Given the description of an element on the screen output the (x, y) to click on. 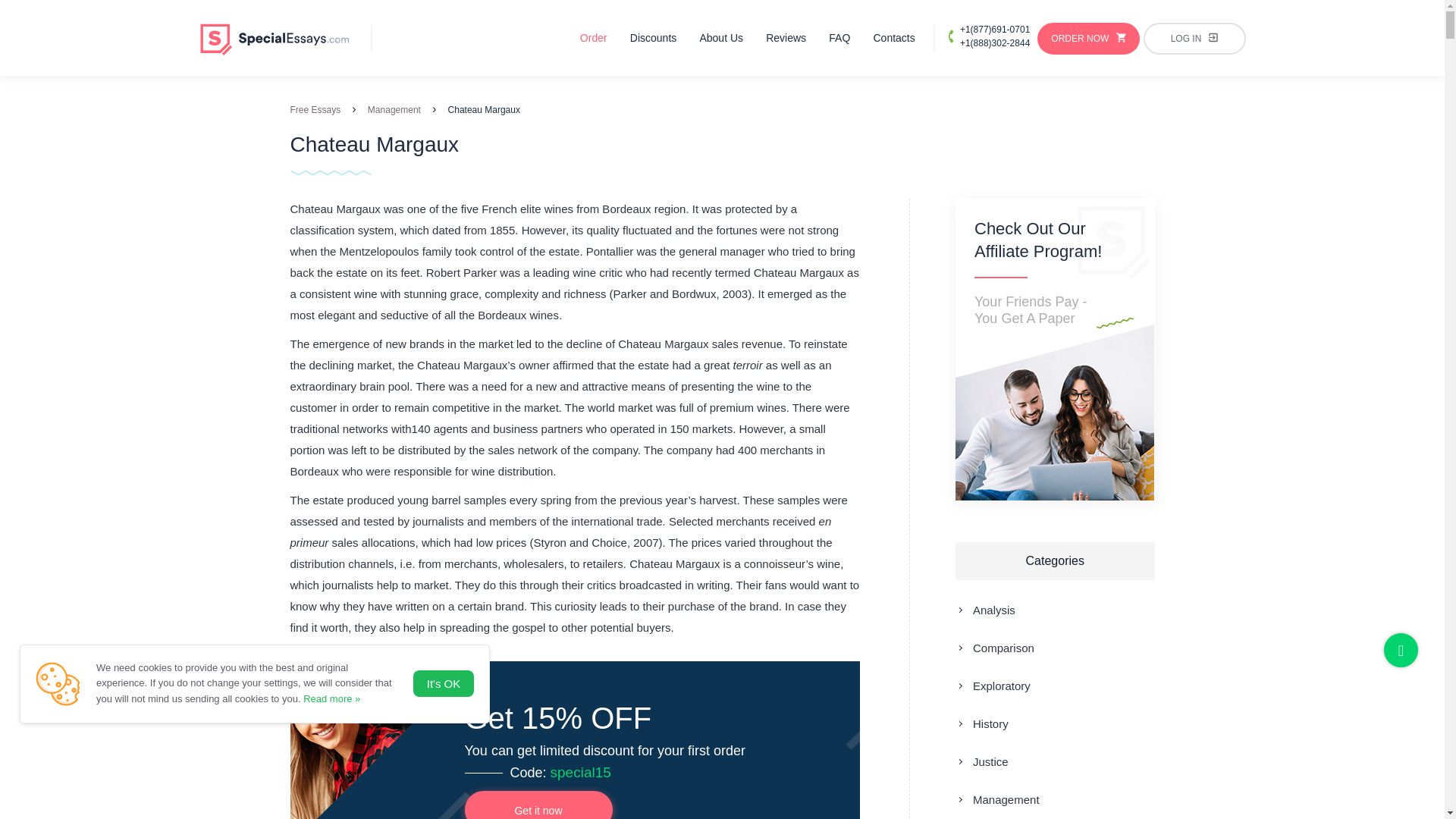
Get it now (537, 805)
Reviews (785, 37)
Free Essays (314, 109)
Comparison (994, 648)
Management (997, 799)
About Us (720, 37)
Discounts (653, 37)
Order (593, 37)
ORDER NOW (1088, 38)
Management (394, 109)
Contacts (893, 37)
Analysis (984, 610)
Justice (982, 761)
History (982, 724)
FAQ (839, 37)
